Given the description of an element on the screen output the (x, y) to click on. 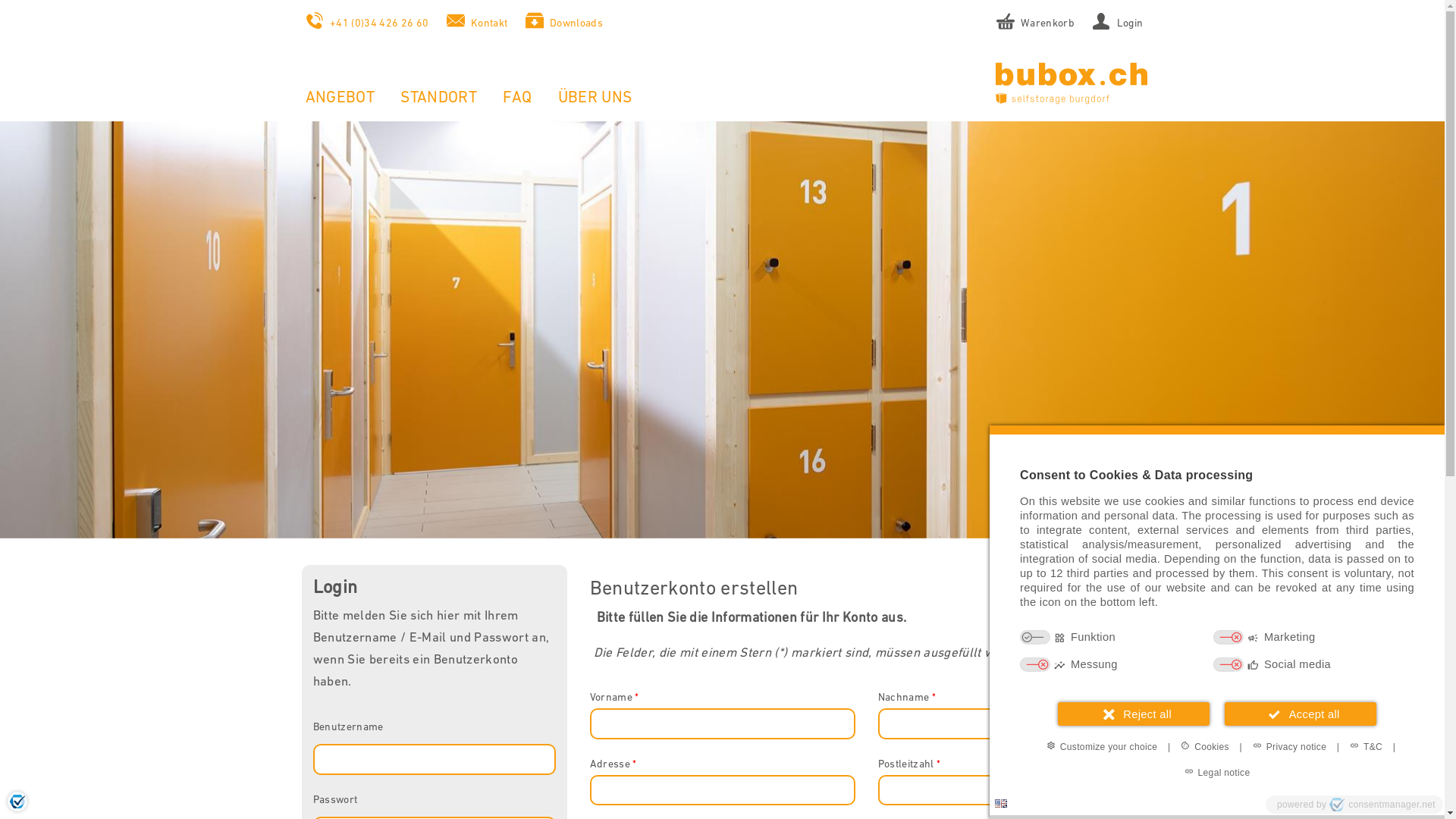
Login Element type: text (1115, 22)
zur Startseite Element type: hover (1061, 81)
Accept all Element type: text (1300, 713)
consentmanager.net Element type: text (1382, 804)
Language: en Element type: hover (1000, 803)
Downloads Element type: text (561, 22)
Privacy settings Element type: hover (17, 801)
T&C Element type: text (1366, 746)
STANDORT Element type: text (438, 97)
Privacy notice Element type: text (1289, 746)
FAQ Element type: text (516, 97)
Geben Sie hier Ihre PLZ ein. Element type: hover (1010, 790)
Cookies Element type: text (1204, 746)
Geben Sie hier Ihren Nachnamen ein. Element type: hover (1010, 723)
ANGEBOT Element type: text (338, 97)
Reject all Element type: text (1133, 713)
Kontakt Element type: text (476, 22)
Geben Sie hier Ihre Adresse ein. Element type: hover (722, 790)
Customize your choice Element type: text (1101, 746)
Warenkorb Element type: text (1034, 22)
Language: en Element type: hover (1000, 802)
Legal notice Element type: text (1217, 771)
Geben Sie hier Ihren Vornamen ein. Element type: hover (722, 723)
+41 (0)34 426 26 60 Element type: text (366, 22)
